Given the description of an element on the screen output the (x, y) to click on. 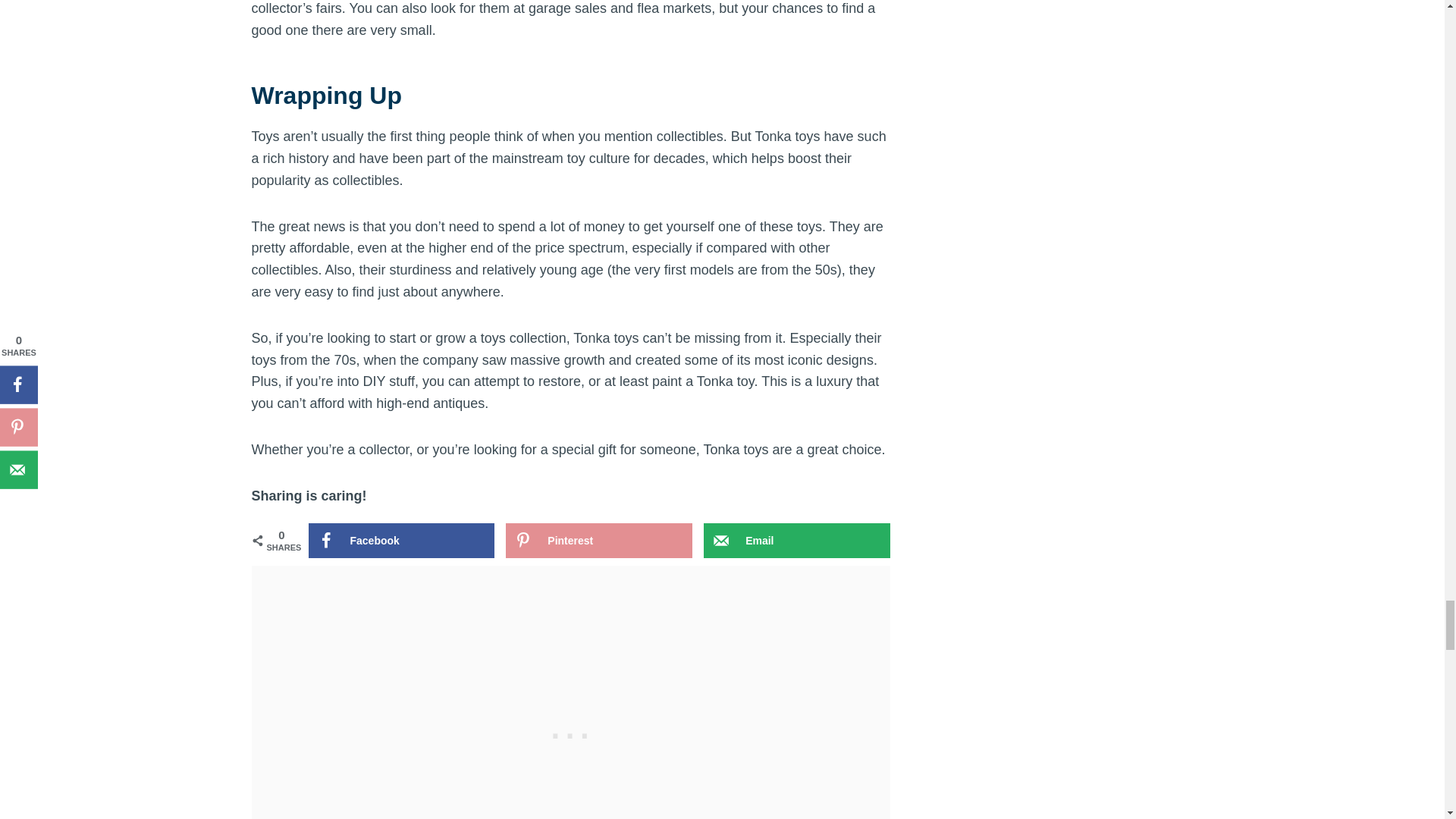
Save to Pinterest (598, 540)
Pinterest (598, 540)
Email (796, 540)
Share on Facebook (400, 540)
Facebook (400, 540)
Send over email (796, 540)
